Given the description of an element on the screen output the (x, y) to click on. 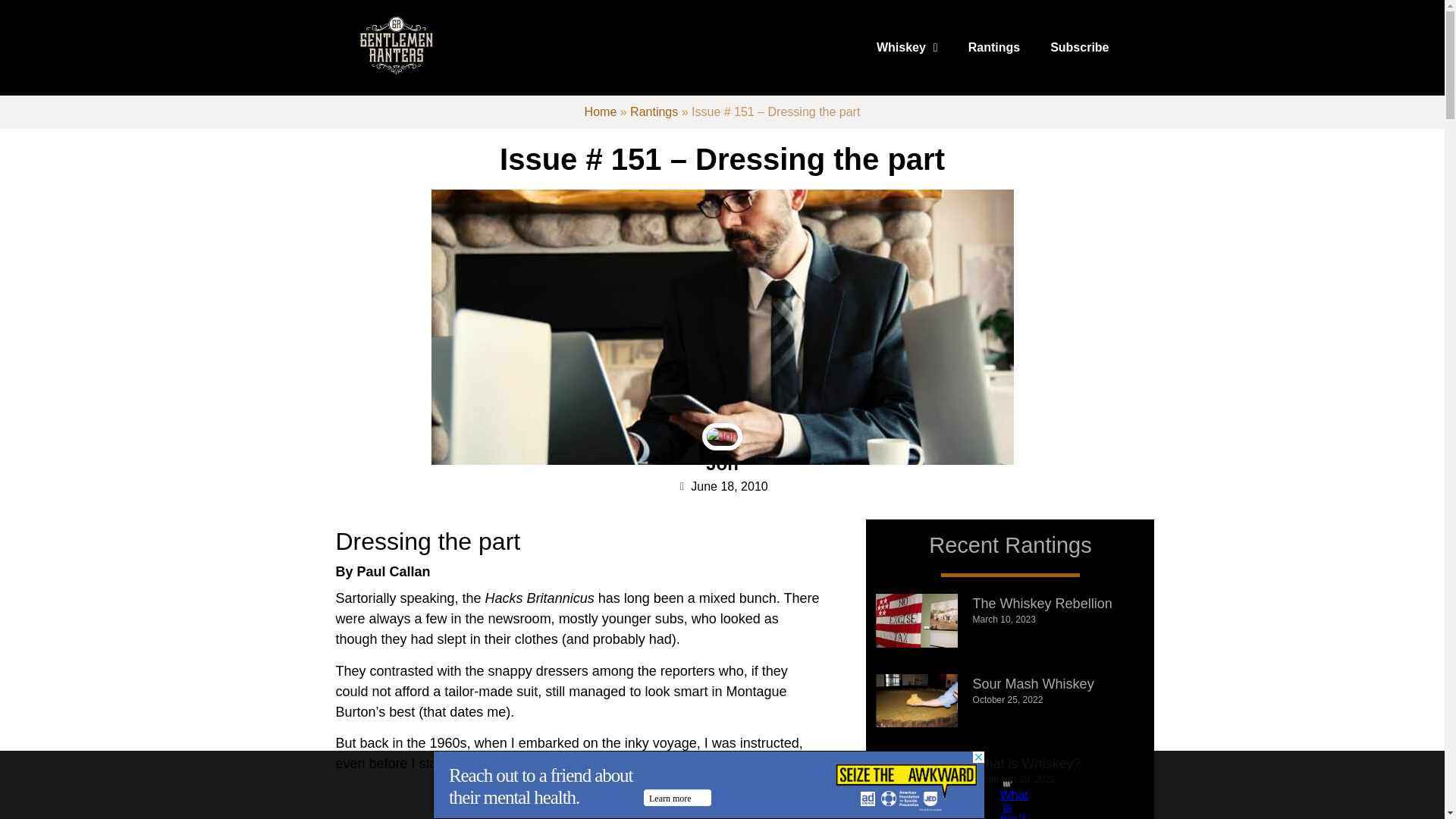
3rd party ad content (708, 785)
Gentlemen-Ranters-Logo-2 (395, 45)
Rantings (994, 47)
Jon (722, 463)
Home (601, 111)
Subscribe (1079, 47)
3rd party ad content (577, 811)
What is Whiskey? (1026, 763)
Sour Mash Whiskey (1033, 683)
Whiskey (907, 47)
Rantings (654, 111)
The Whiskey Rebellion (1042, 603)
